Given the description of an element on the screen output the (x, y) to click on. 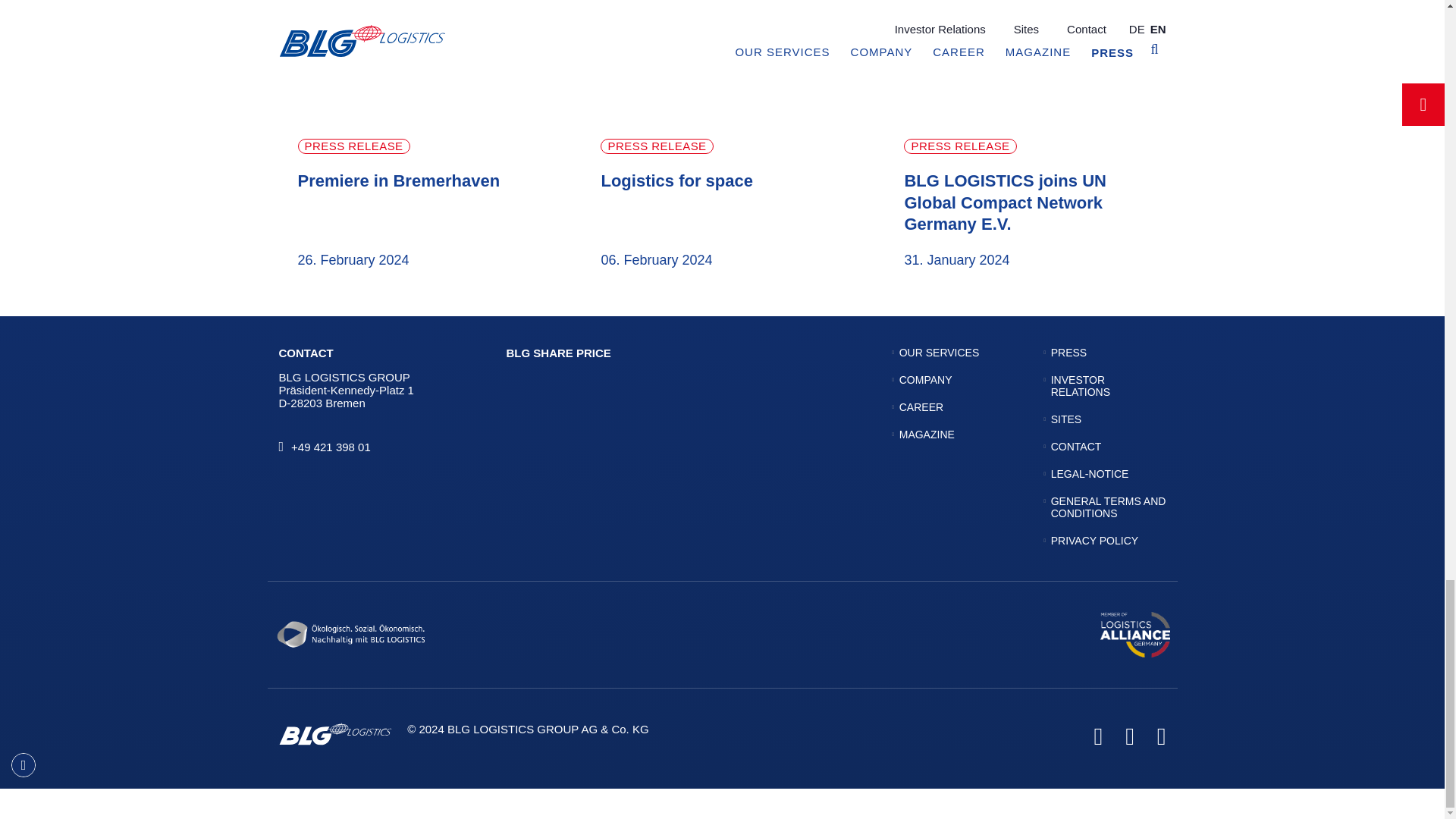
Career (921, 407)
Contact (1076, 446)
General terms and conditions (1108, 507)
Sites (1066, 419)
Magazine (927, 434)
Privacy policy (1094, 540)
Legal-notice (1090, 473)
Company (925, 379)
Press (1068, 352)
Investor Relations (1080, 385)
Our services (939, 352)
